Given the description of an element on the screen output the (x, y) to click on. 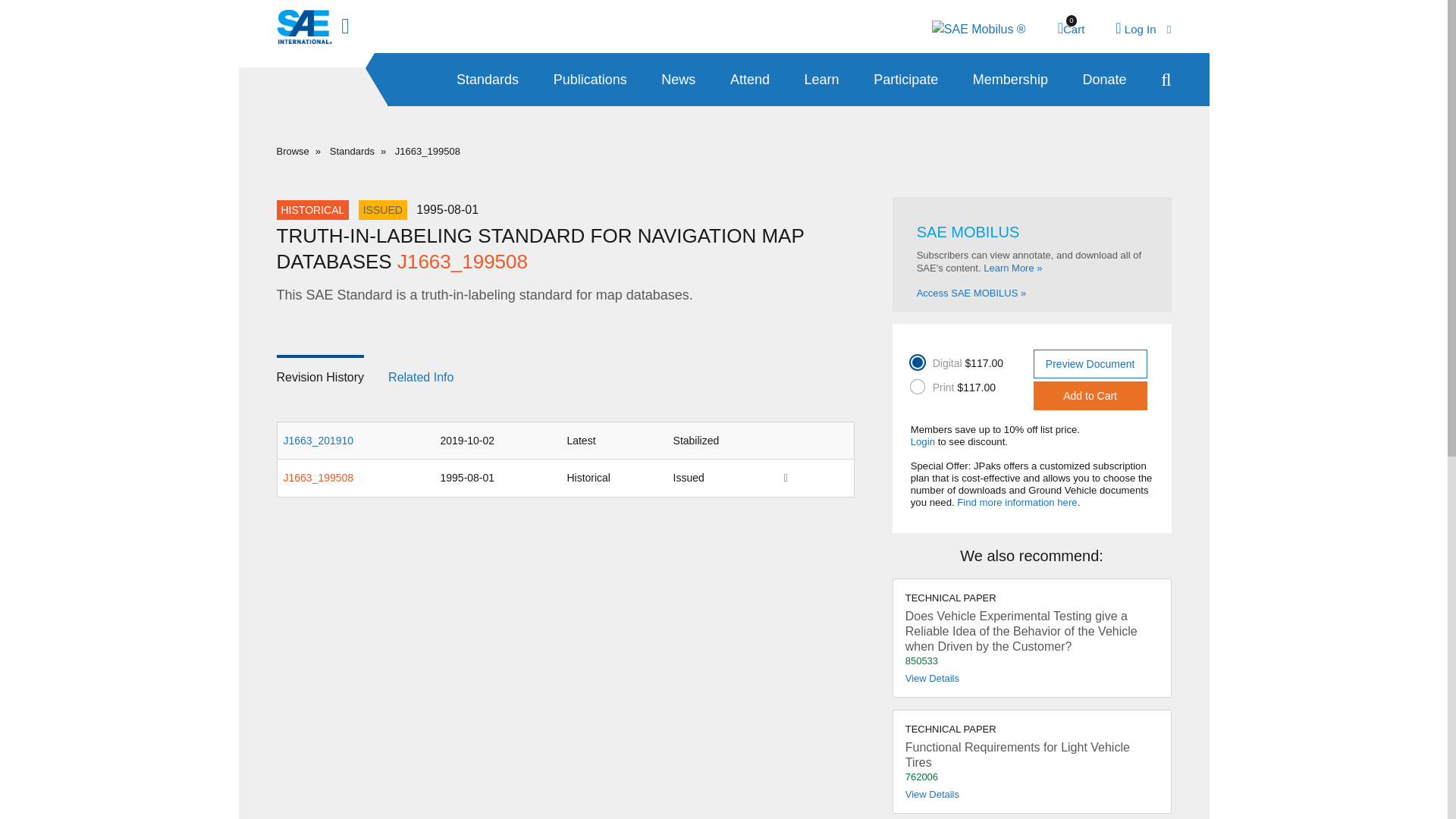
Publications (1071, 28)
Standards (564, 374)
 Log In (590, 79)
